Given the description of an element on the screen output the (x, y) to click on. 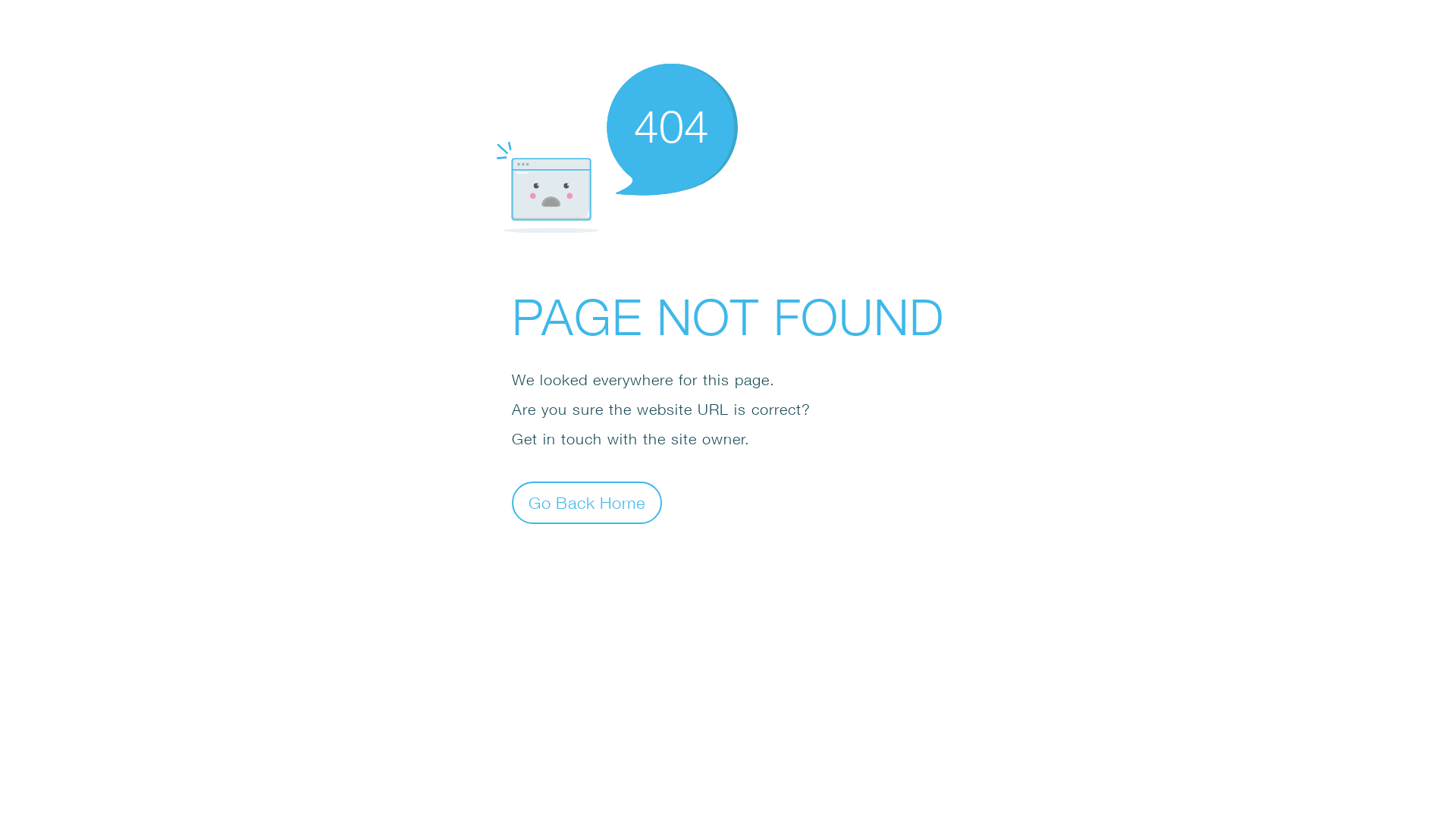
Go Back Home Element type: text (586, 502)
